Given the description of an element on the screen output the (x, y) to click on. 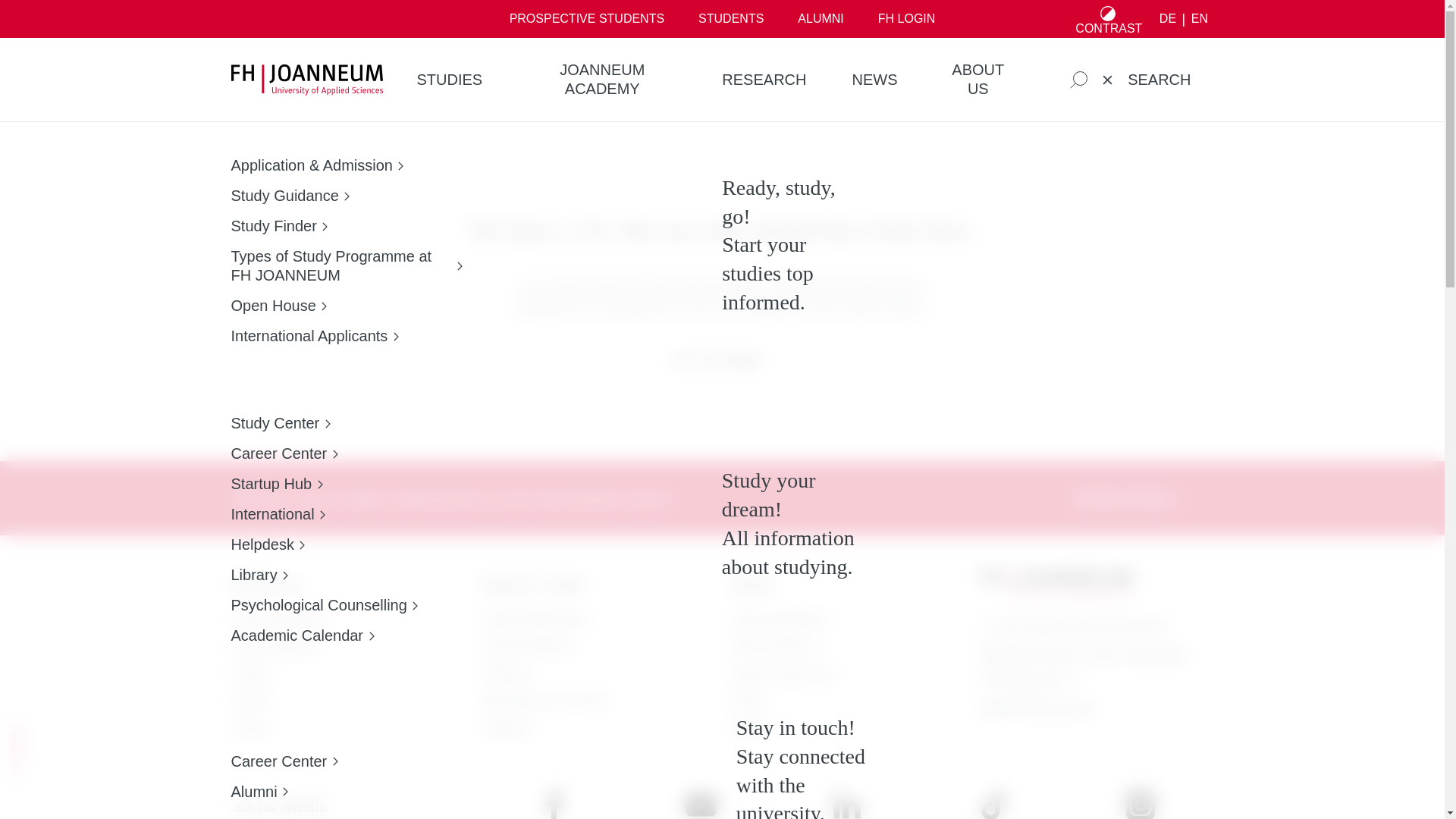
Startup Hub (323, 484)
Alumni (283, 791)
Study Finder (346, 226)
FH LOGIN (906, 18)
CONTRAST (1109, 18)
Types of Study Programme at FH JOANNEUM (346, 266)
Study Guidance (346, 195)
EN (1198, 18)
Open House (346, 305)
Library (323, 574)
